Given the description of an element on the screen output the (x, y) to click on. 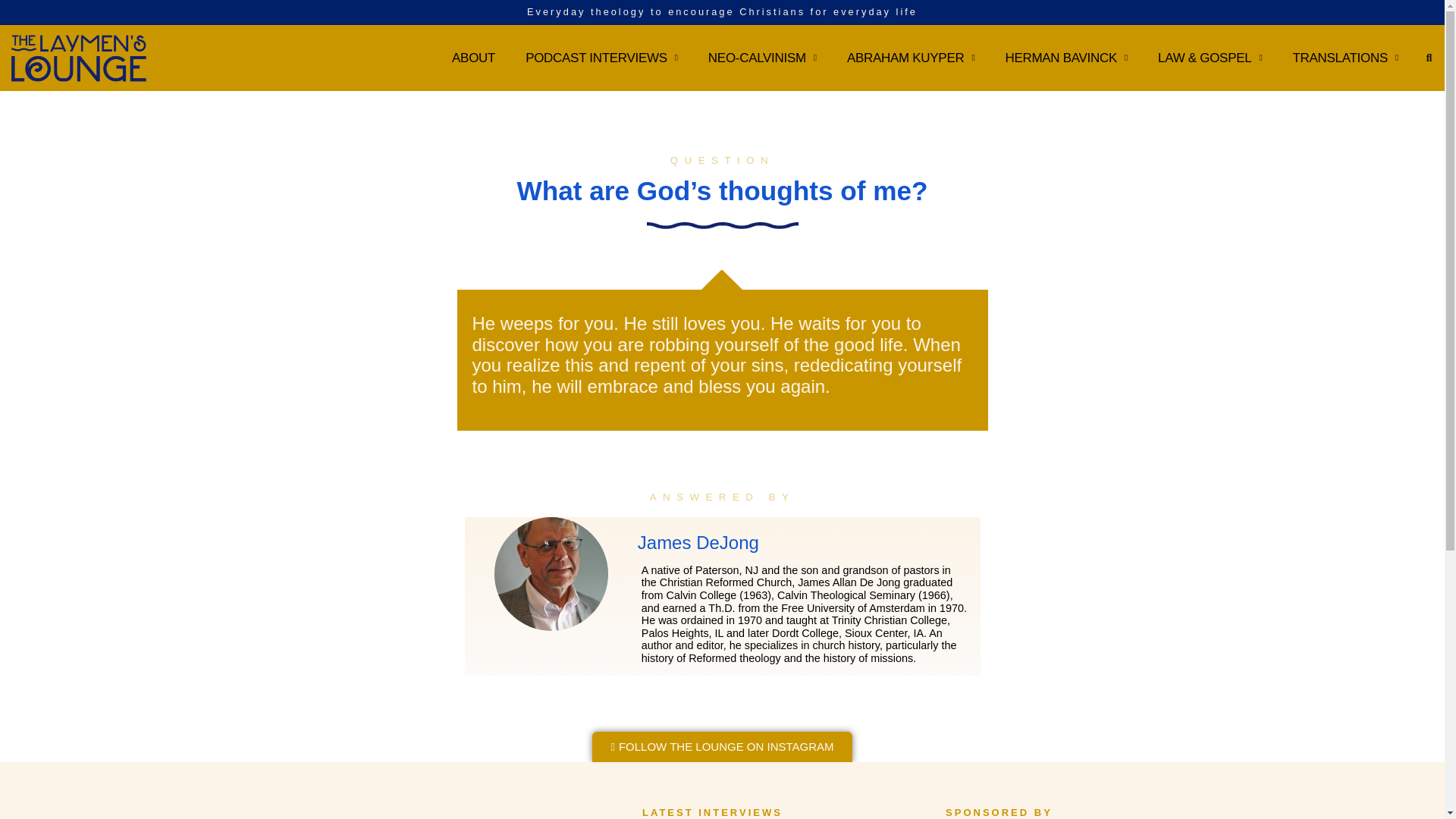
PODCAST INTERVIEWS (602, 58)
ABOUT (473, 58)
